Given the description of an element on the screen output the (x, y) to click on. 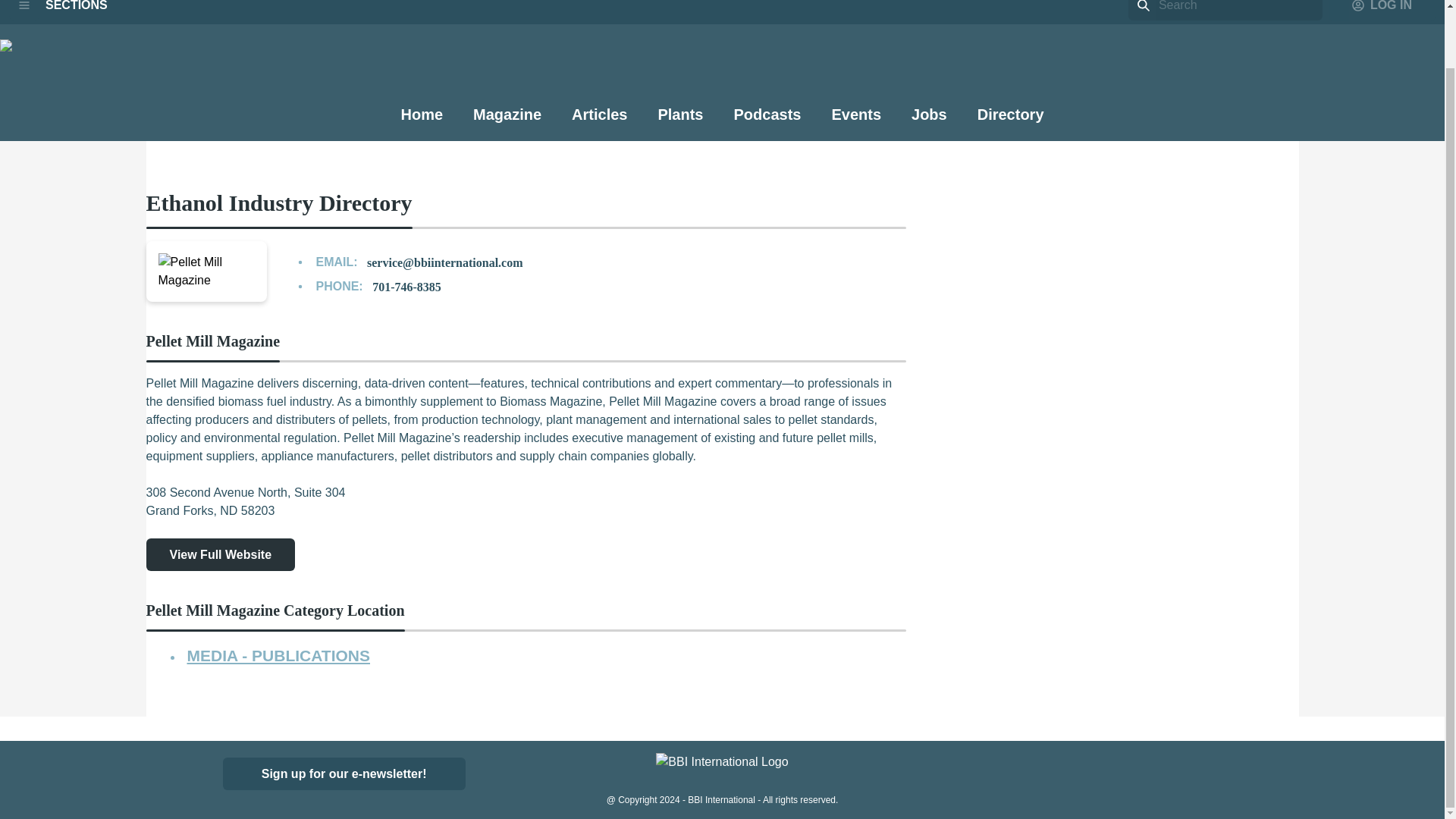
Jobs (929, 121)
View Full Website (220, 554)
LOG IN (1381, 10)
Events (855, 122)
701-746-8385 (406, 286)
Sign up for our e-newsletter! (343, 773)
Podcasts (766, 121)
Magazine (507, 122)
MEDIA - PUBLICATIONS (277, 655)
Directory (1009, 122)
Plants (680, 122)
Articles (599, 121)
Home (421, 121)
